Given the description of an element on the screen output the (x, y) to click on. 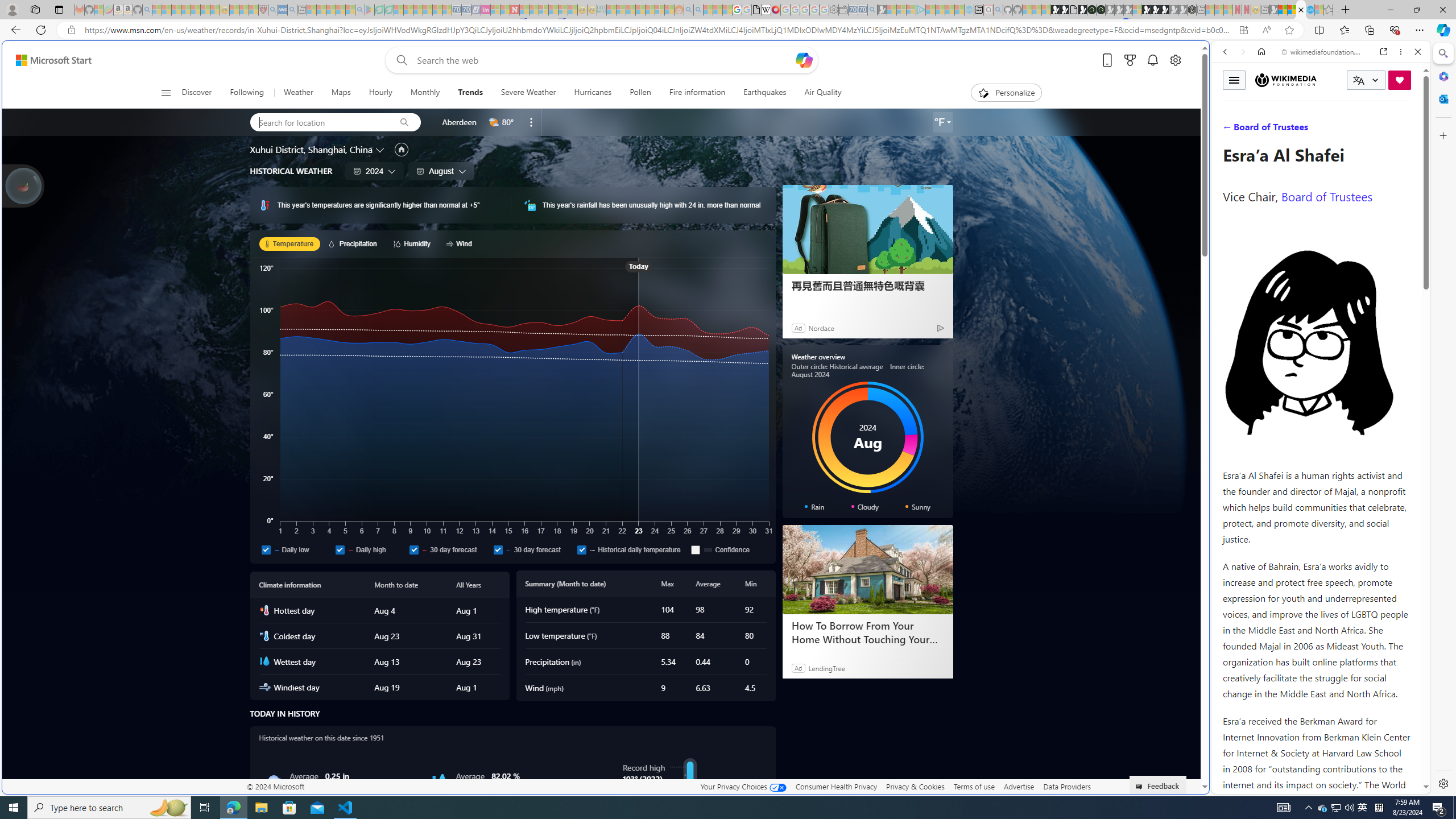
App available. Install Microsoft Start Weather (1243, 29)
Historical daily temperature (631, 549)
Humidity (413, 243)
Set as primary location (400, 149)
Donate now (1399, 80)
Toggle menu (1233, 80)
